Given the description of an element on the screen output the (x, y) to click on. 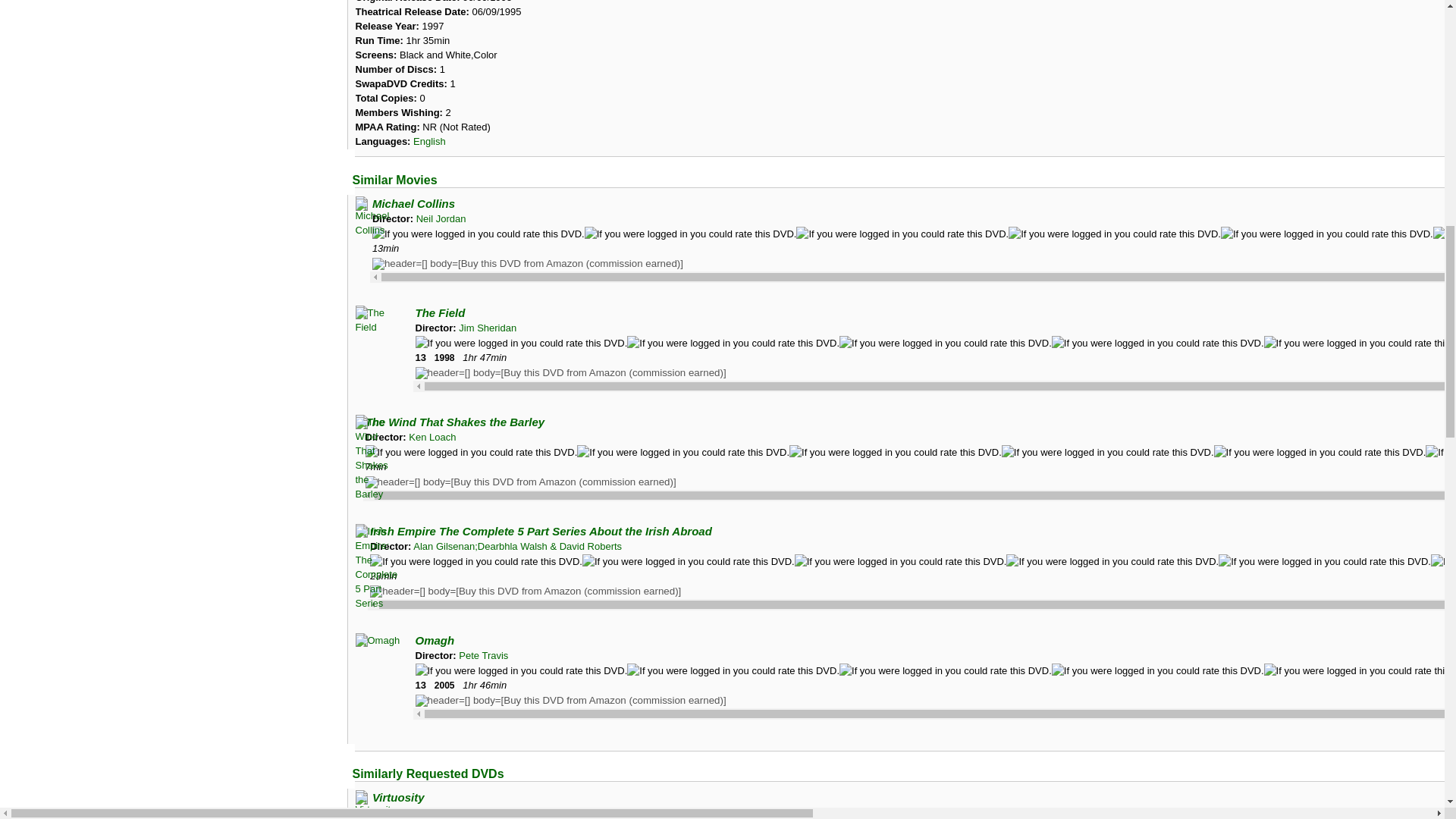
Buy from Amazon (570, 700)
Buy from Amazon (521, 481)
Buy from Amazon (525, 591)
Buy from Amazon (570, 372)
Buy from Amazon (527, 263)
